Given the description of an element on the screen output the (x, y) to click on. 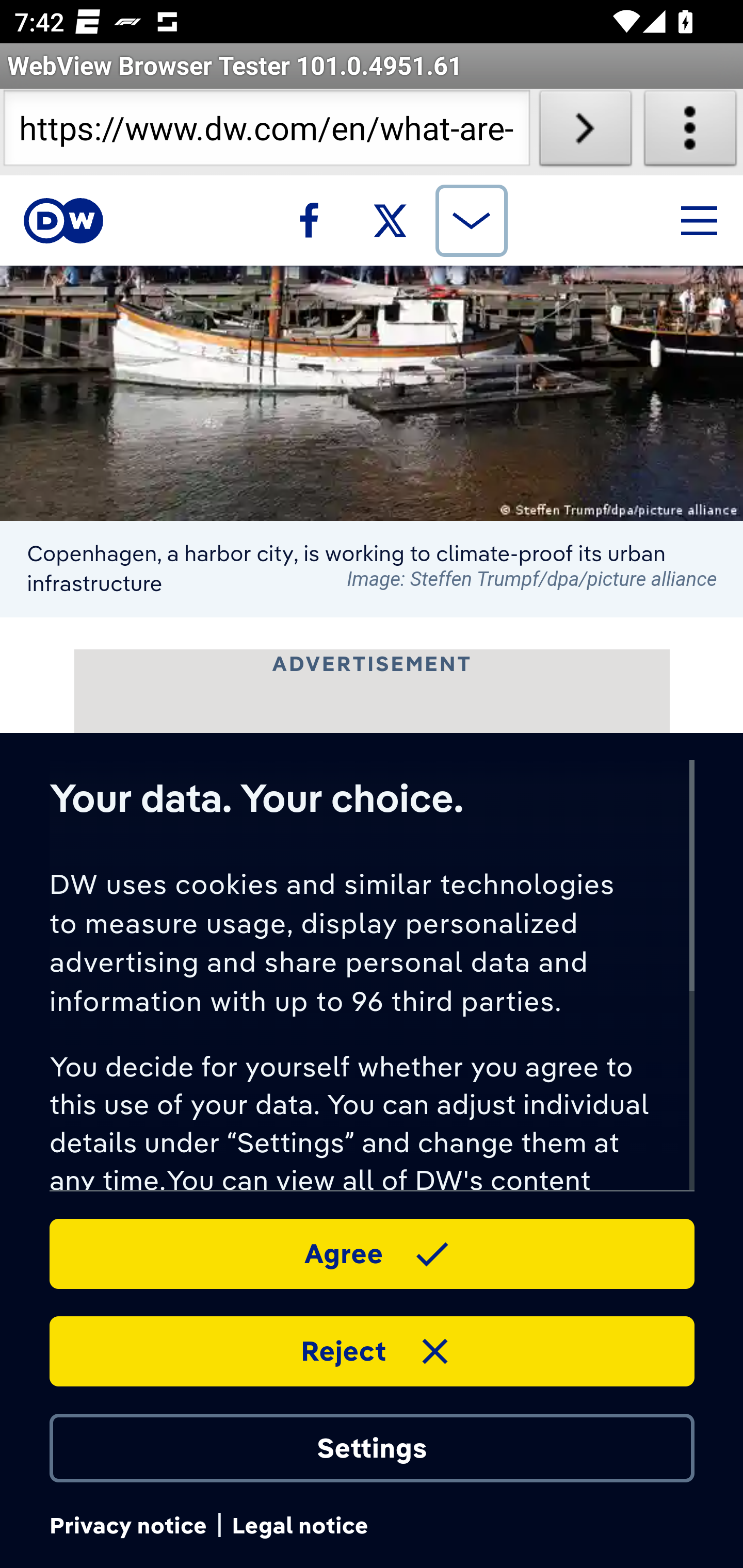
Load URL (585, 132)
About WebView (690, 132)
External link — share this page with Facebook (308, 219)
External link — share this page with X / Twitter (390, 219)
Show more apps (470, 219)
Open main navigation (699, 219)
logos/dw_logo_dark-blue (62, 220)
Agree (371, 1252)
Reject (371, 1349)
Settings (371, 1446)
Privacy notice (127, 1526)
Legal notice (300, 1526)
